Given the description of an element on the screen output the (x, y) to click on. 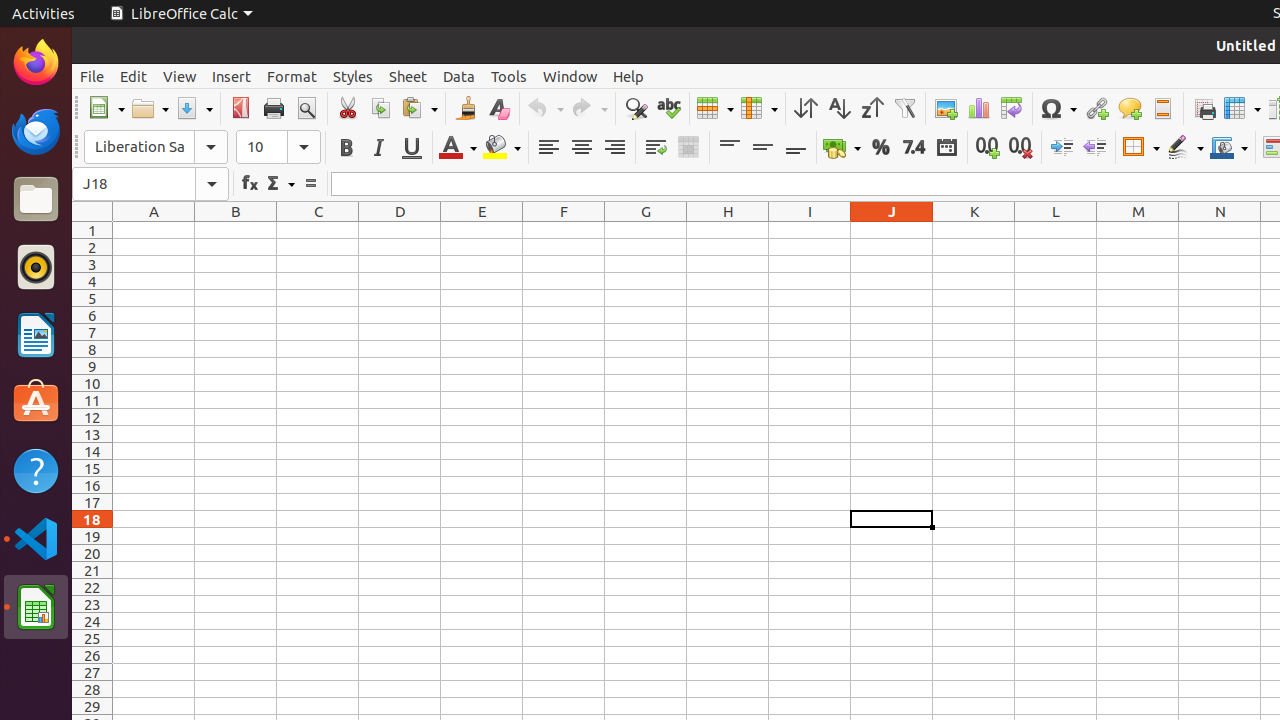
AutoFilter Element type: push-button (904, 108)
Chart Element type: push-button (978, 108)
Italic Element type: toggle-button (378, 147)
Activities Element type: label (43, 13)
Hyperlink Element type: toggle-button (1096, 108)
